Given the description of an element on the screen output the (x, y) to click on. 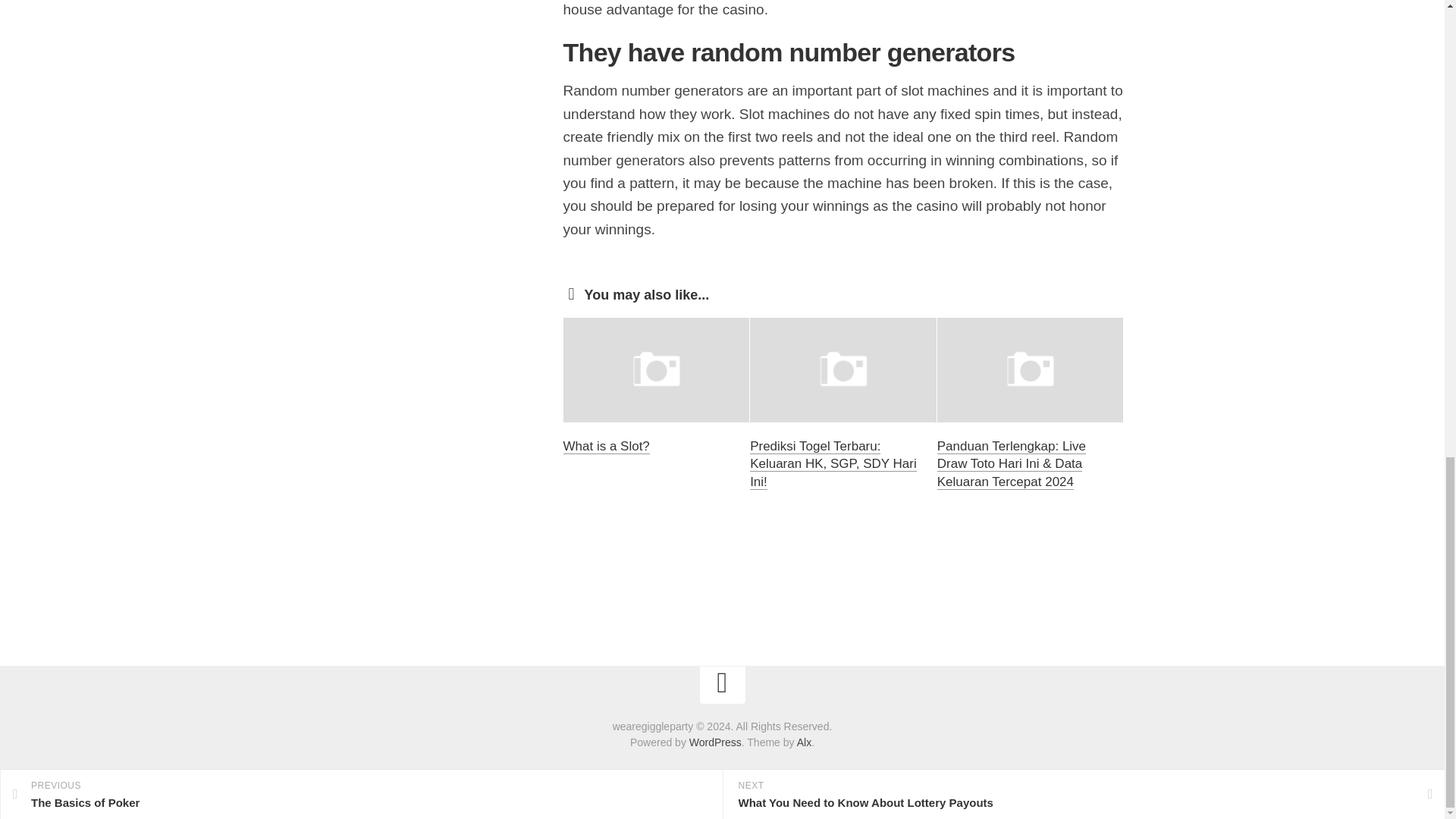
WordPress (714, 742)
Prediksi Togel Terbaru: Keluaran HK, SGP, SDY Hari Ini! (833, 463)
Alx (803, 742)
What is a Slot? (605, 445)
